Given the description of an element on the screen output the (x, y) to click on. 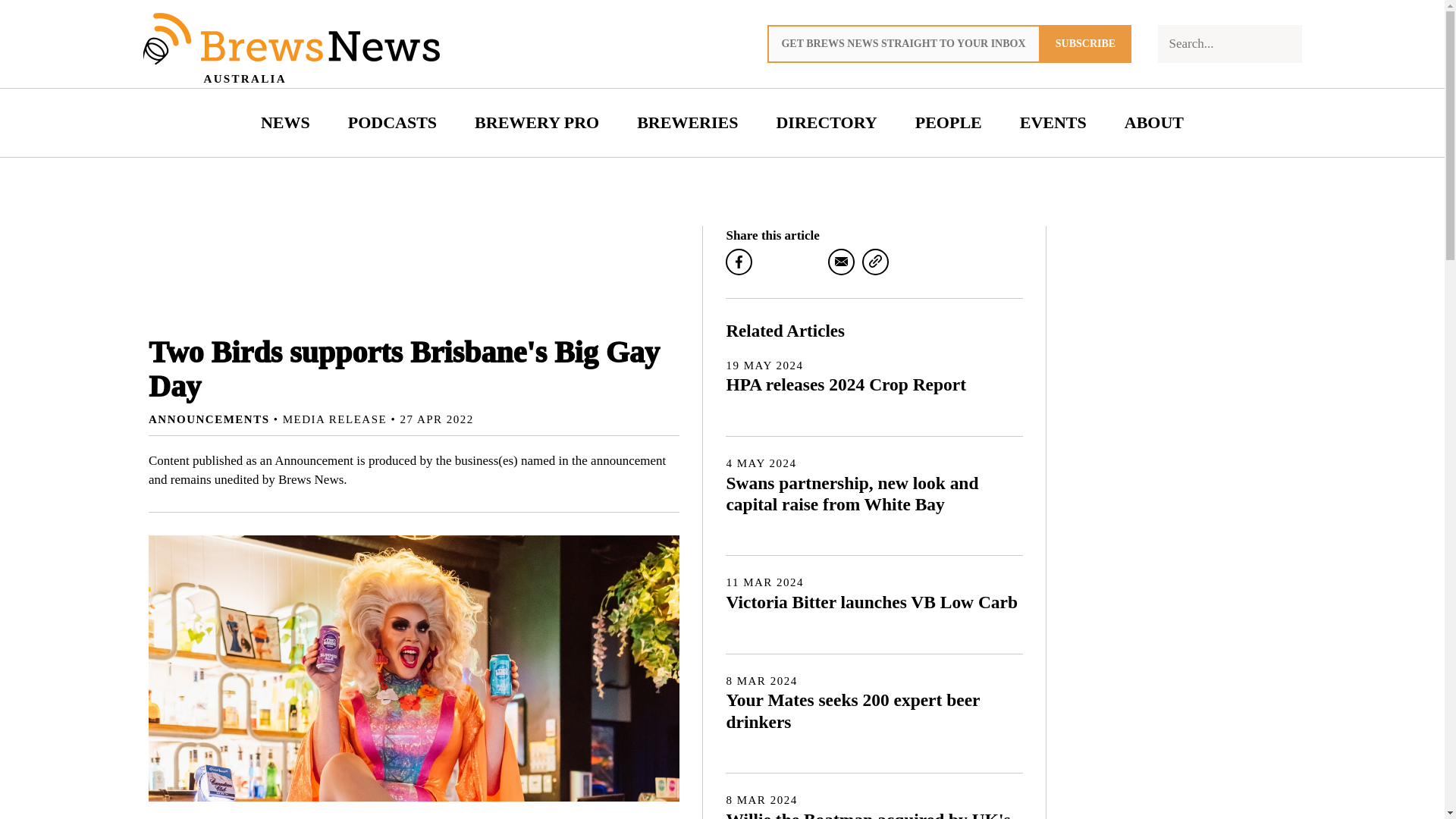
Copy link (874, 261)
Facebook (738, 261)
Twitter (807, 261)
BREWERY PRO (536, 122)
Subscribe (1086, 44)
PODCASTS (392, 122)
EVENTS (1053, 122)
DIRECTORY (826, 122)
BREWERIES (687, 122)
Subscribe (1086, 44)
Email (874, 376)
PEOPLE (841, 261)
SEARCH (948, 122)
NEWS (1282, 44)
